Given the description of an element on the screen output the (x, y) to click on. 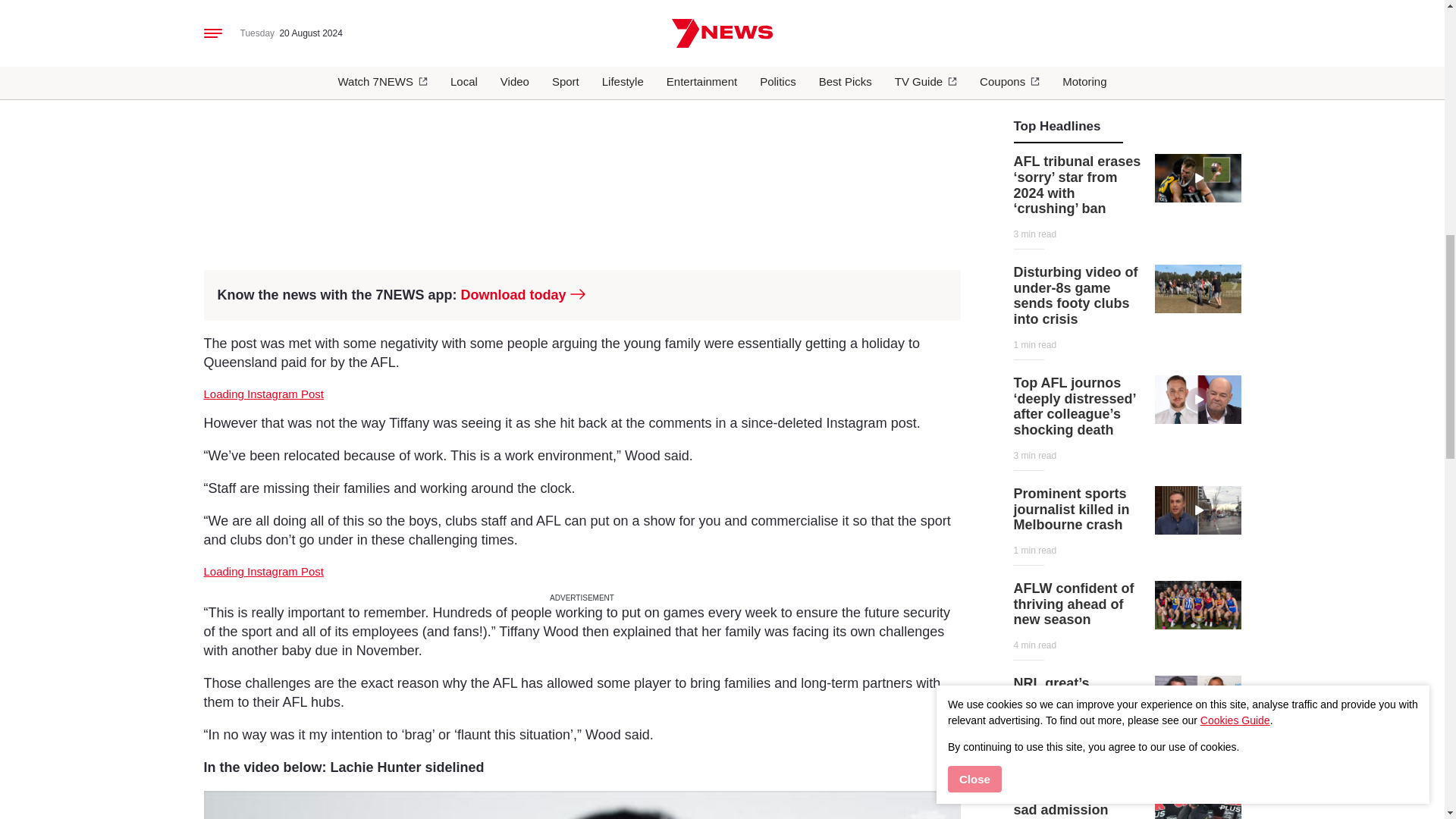
Video (1197, 399)
Video (1197, 509)
Video (1197, 178)
